Given the description of an element on the screen output the (x, y) to click on. 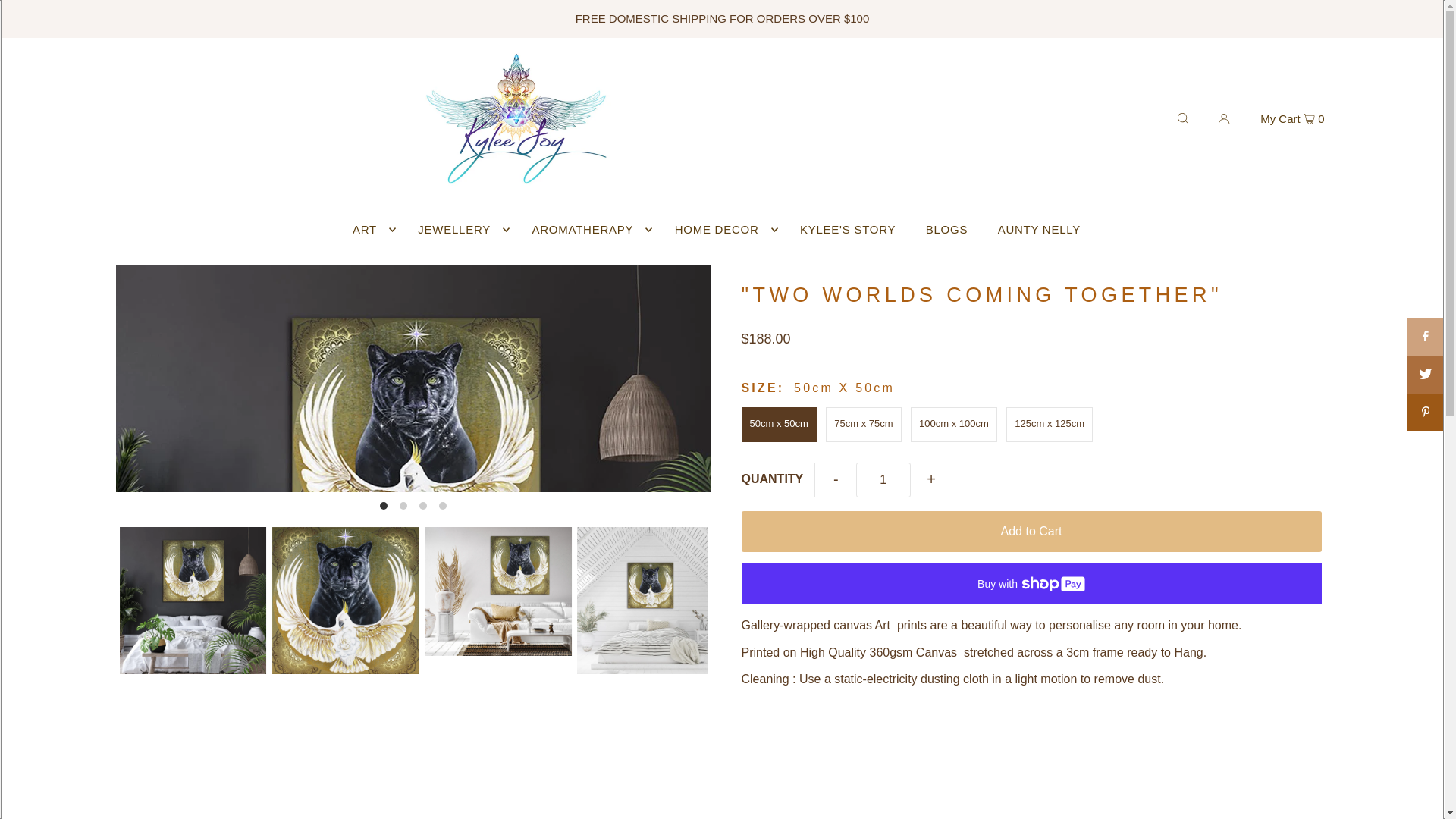
Add to Cart (1031, 531)
1 (883, 479)
ART (370, 229)
JEWELLERY (459, 229)
